Given the description of an element on the screen output the (x, y) to click on. 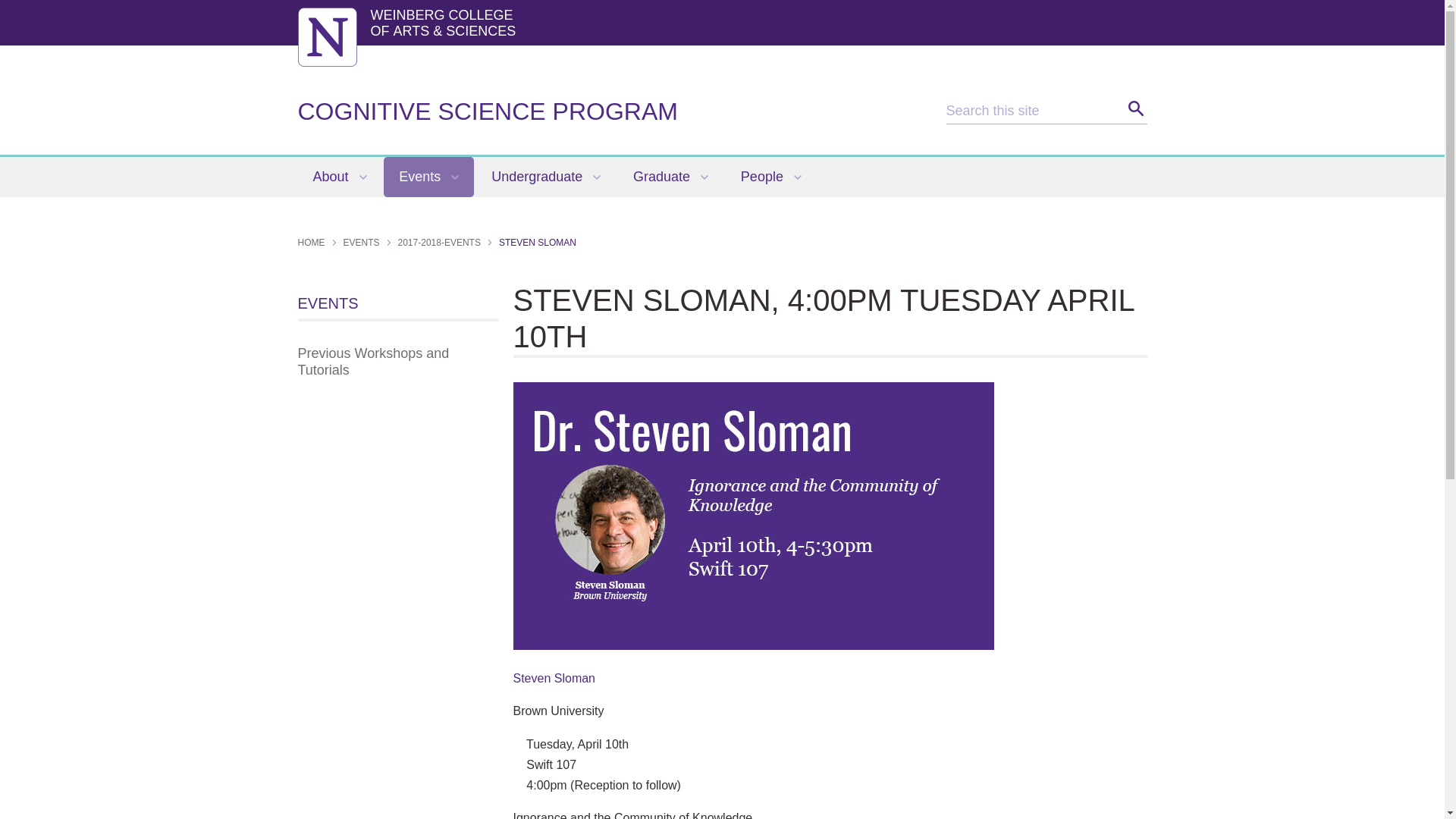
COGNITIVE SCIENCE PROGRAM (487, 110)
